Given the description of an element on the screen output the (x, y) to click on. 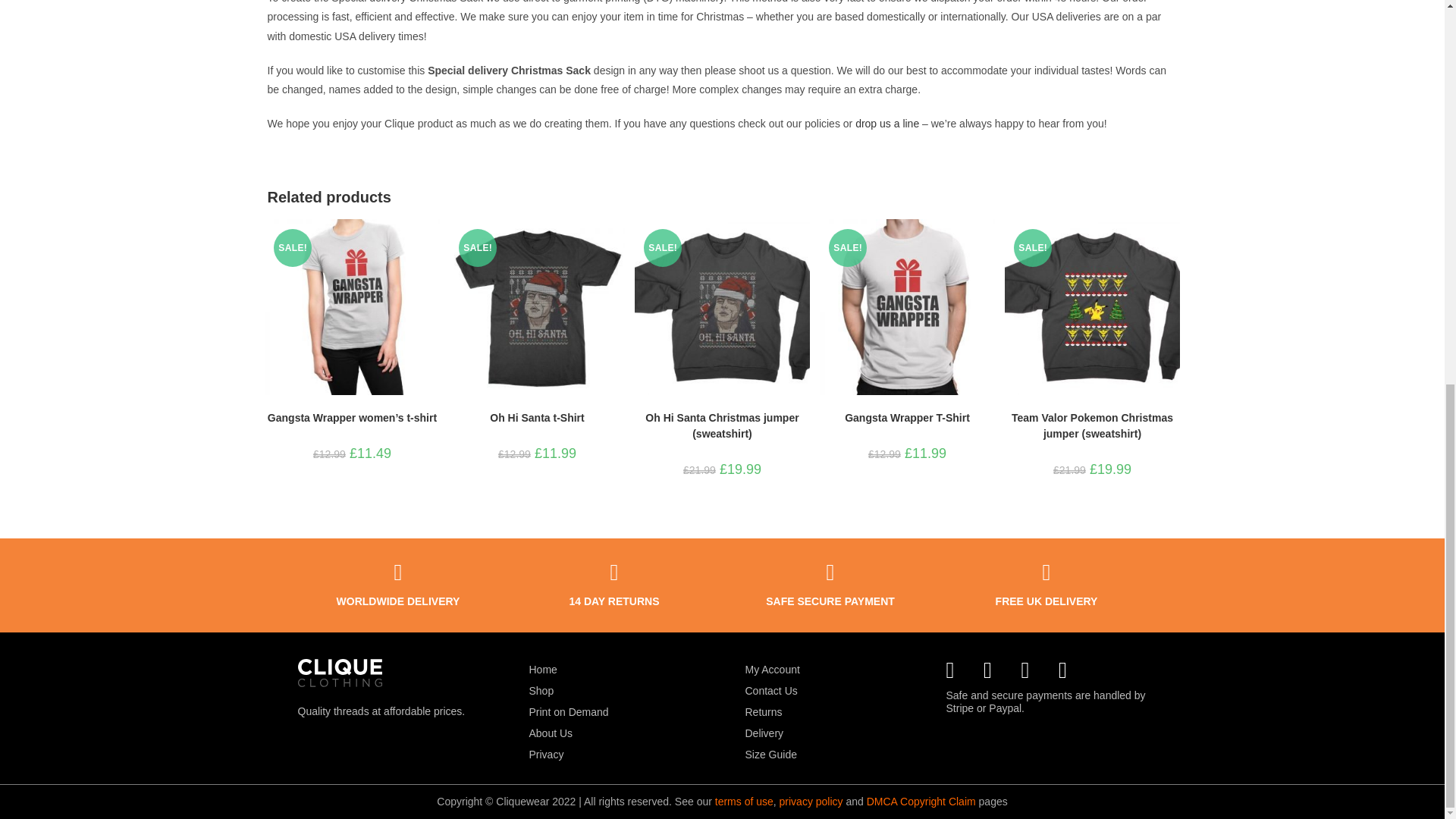
drop us a line (887, 123)
Oh Hi Santa t-Shirt (536, 417)
